Given the description of an element on the screen output the (x, y) to click on. 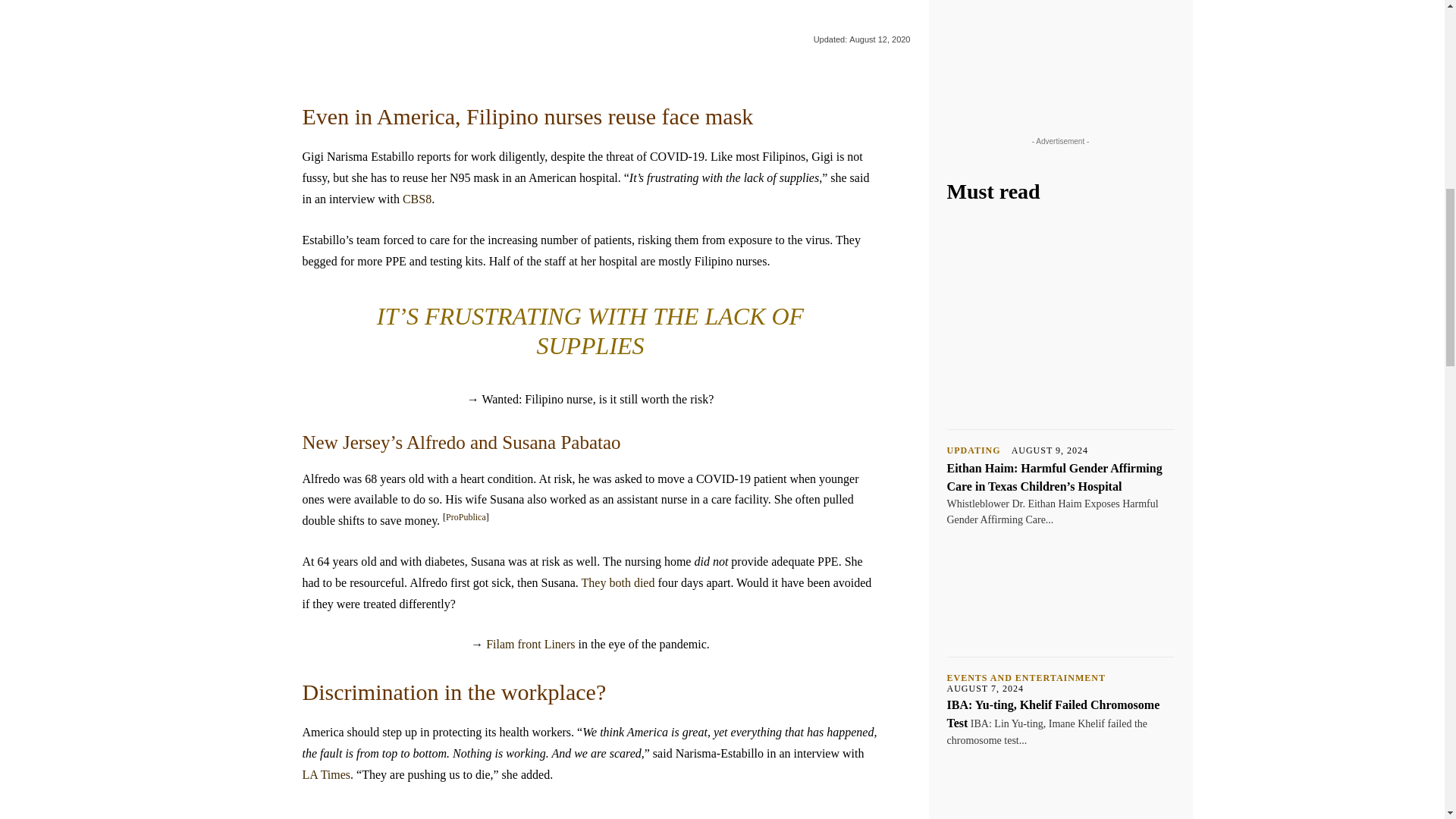
They both died (617, 582)
ProPublica (465, 516)
CBS8 (416, 198)
Filam front Liners (530, 644)
LA Times (325, 774)
